Given the description of an element on the screen output the (x, y) to click on. 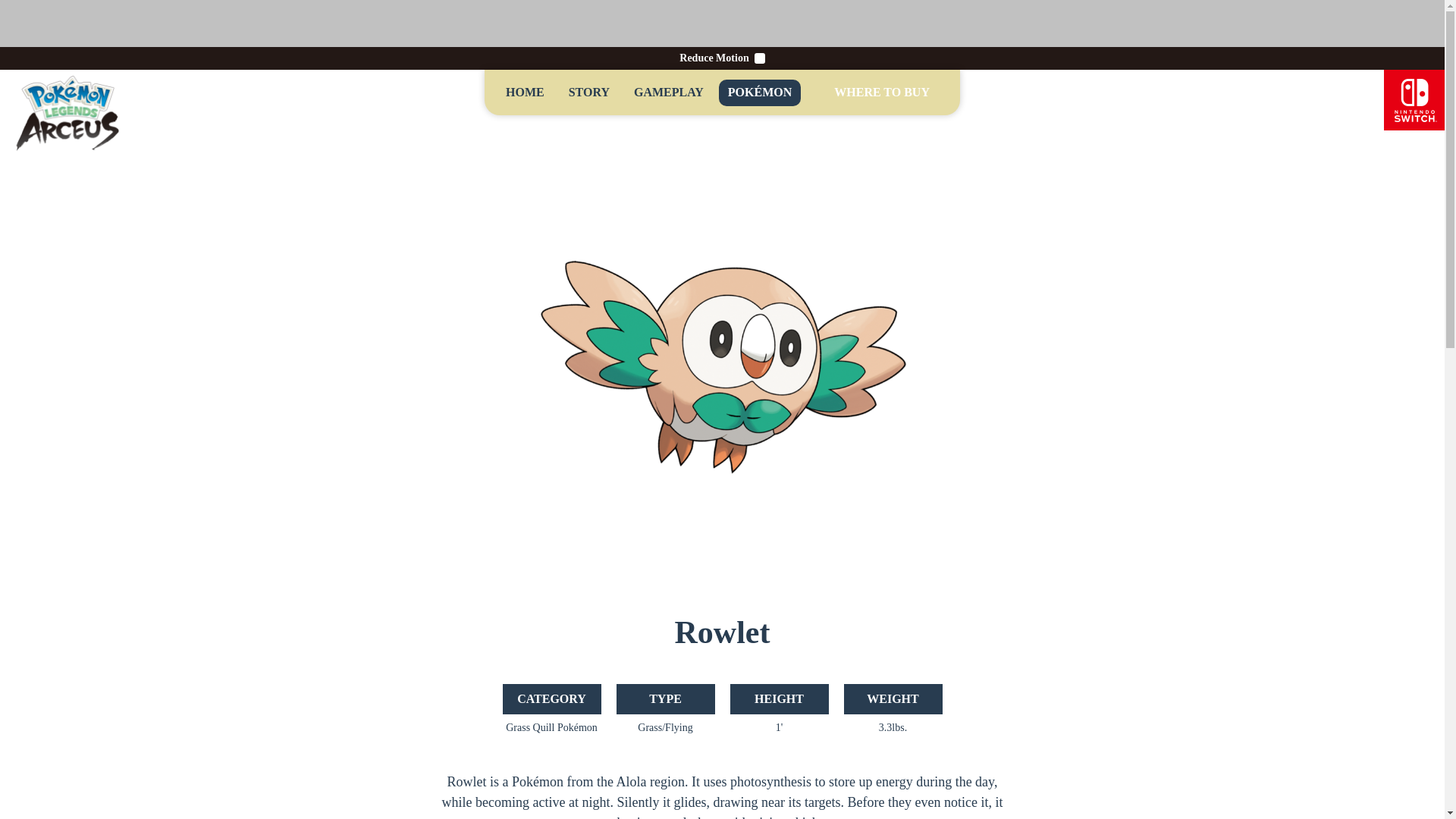
WHERE TO BUY (882, 92)
GAMEPLAY (668, 92)
STORY (588, 92)
on (759, 58)
HOME (524, 92)
